Given the description of an element on the screen output the (x, y) to click on. 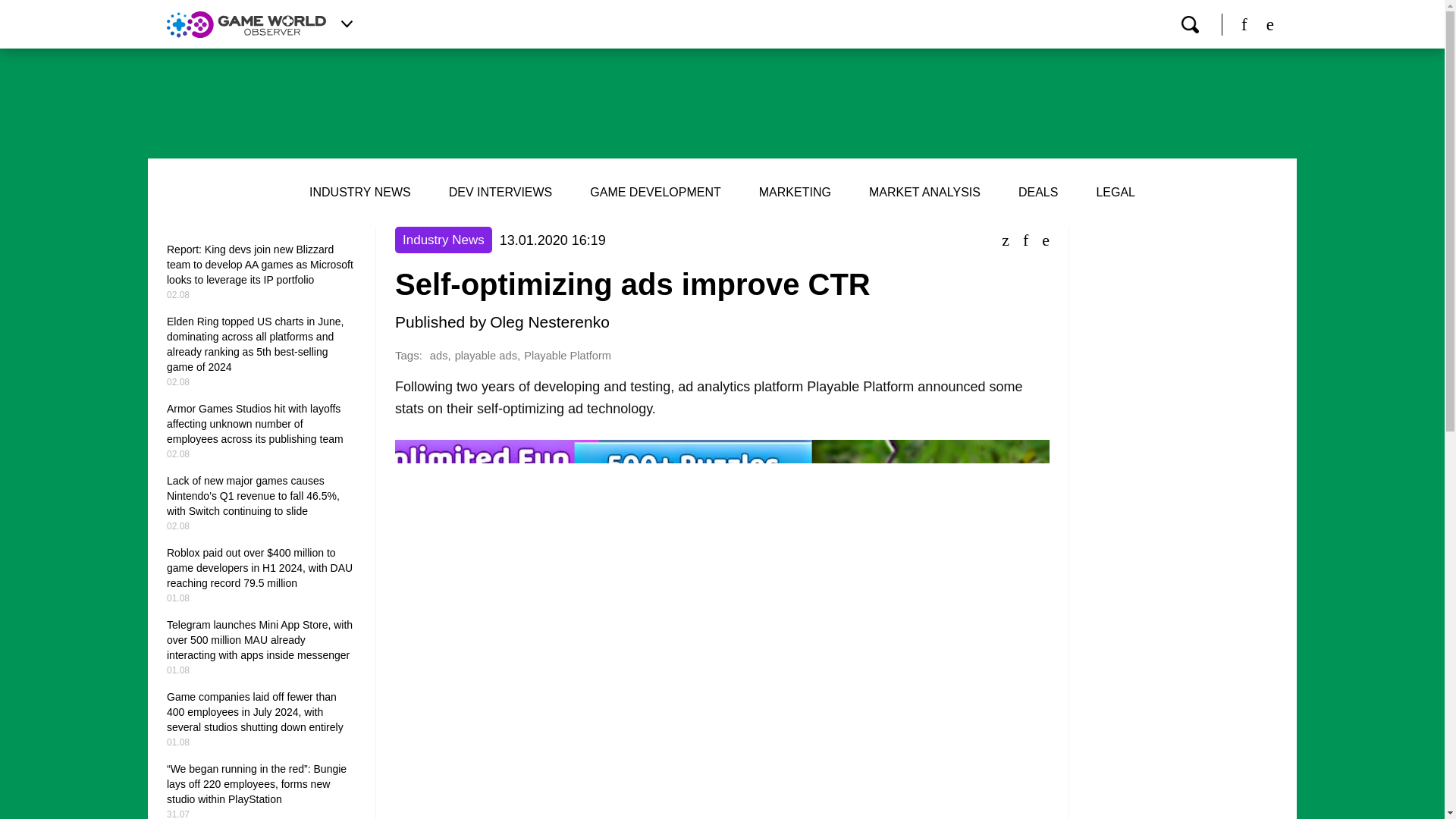
GAME DEVELOPMENT (654, 192)
Home (246, 23)
DEV INTERVIEWS (500, 192)
DEALS (1037, 192)
MARKET ANALYSIS (924, 192)
LEGAL (1115, 192)
Search (1189, 23)
MARKETING (794, 192)
INDUSTRY NEWS (359, 192)
